Given the description of an element on the screen output the (x, y) to click on. 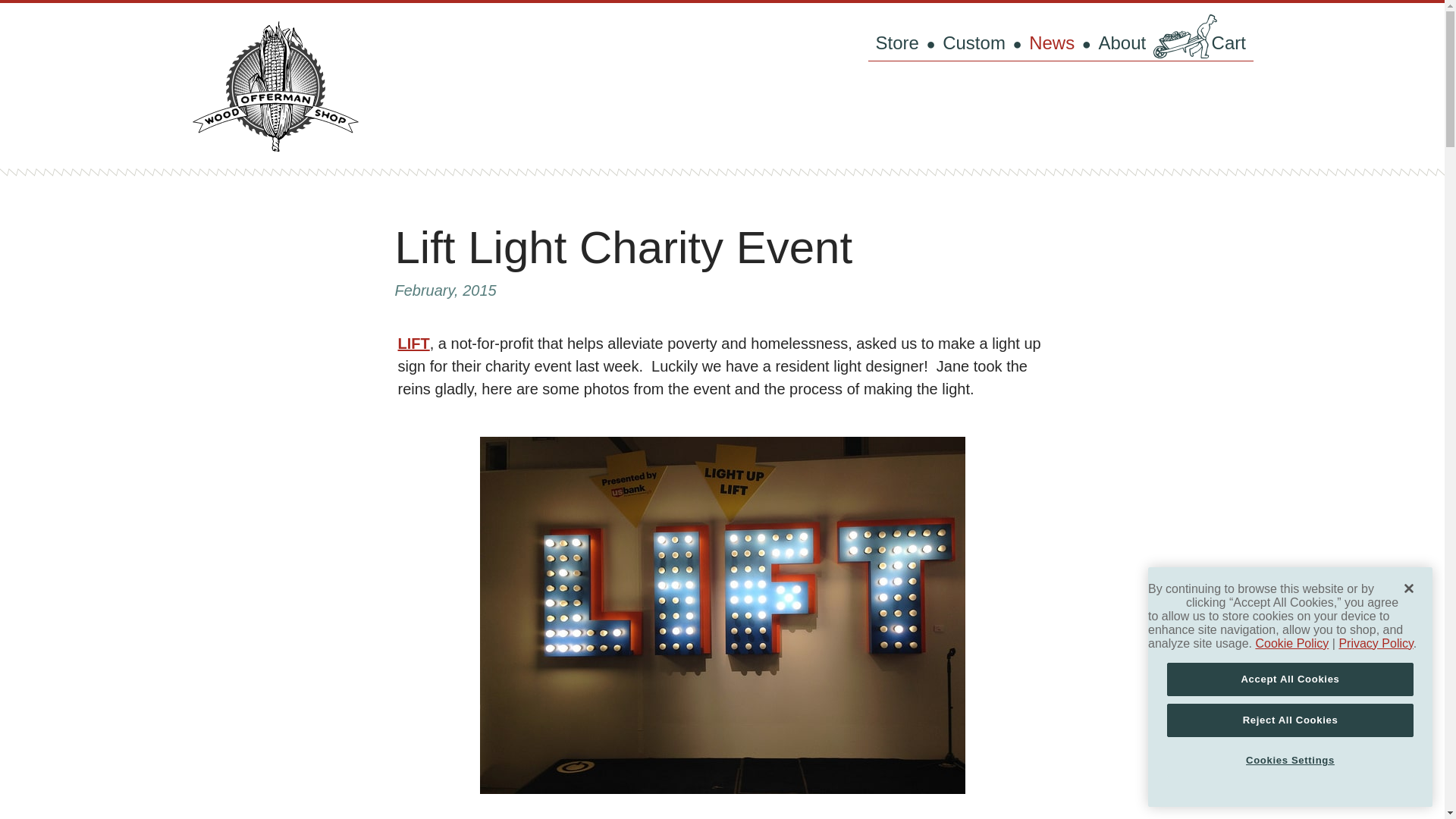
Lift (413, 343)
About (1121, 42)
Custom (974, 42)
News (1051, 42)
LIFT (413, 343)
Cart (1203, 42)
Store (896, 42)
